Given the description of an element on the screen output the (x, y) to click on. 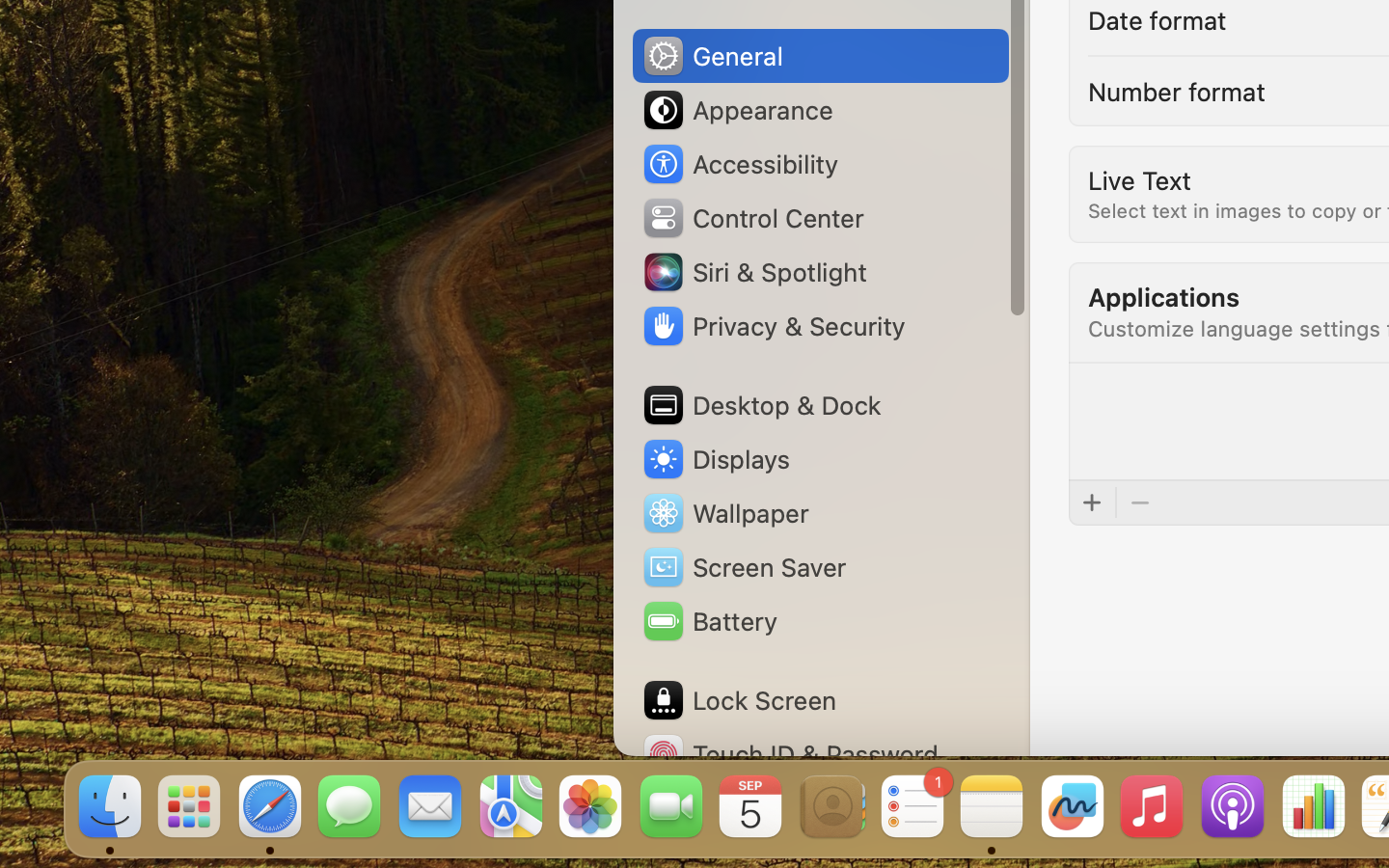
Live Text Element type: AXStaticText (1139, 178)
General Element type: AXStaticText (711, 55)
Wallpaper Element type: AXStaticText (724, 512)
Date format Element type: AXStaticText (1157, 18)
Screen Saver Element type: AXStaticText (743, 566)
